Given the description of an element on the screen output the (x, y) to click on. 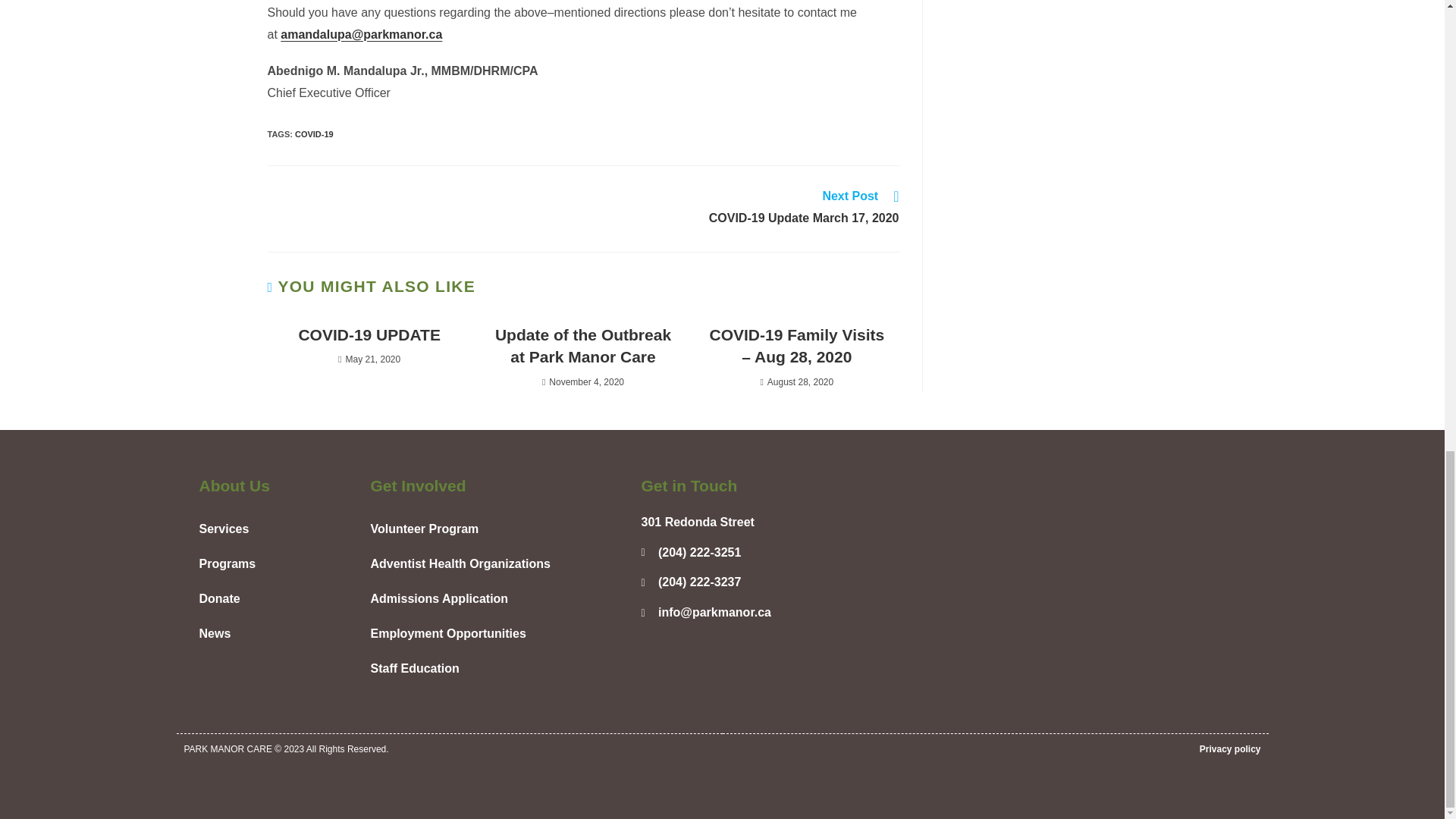
Park Manor Care, 301 Redonda Street, Winnipeg, Manitoba (1054, 588)
Update of the Outbreak at Park Manor Care (582, 345)
COVID-19 UPDATE (368, 334)
